Given the description of an element on the screen output the (x, y) to click on. 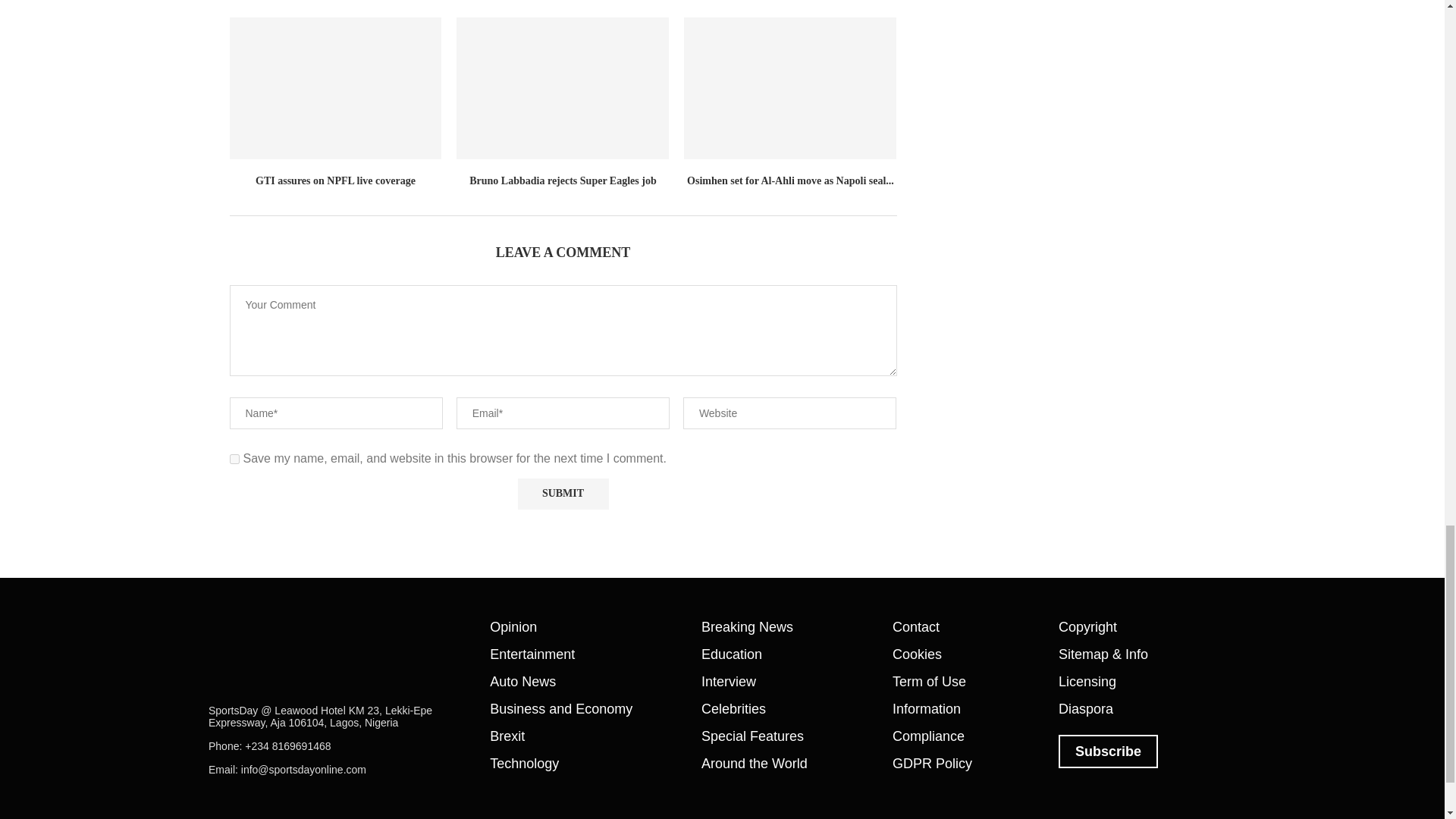
GTI assures on NPFL live coverage (334, 87)
yes (233, 459)
Bruno Labbadia rejects Super Eagles job (562, 87)
Submit (562, 493)
